Given the description of an element on the screen output the (x, y) to click on. 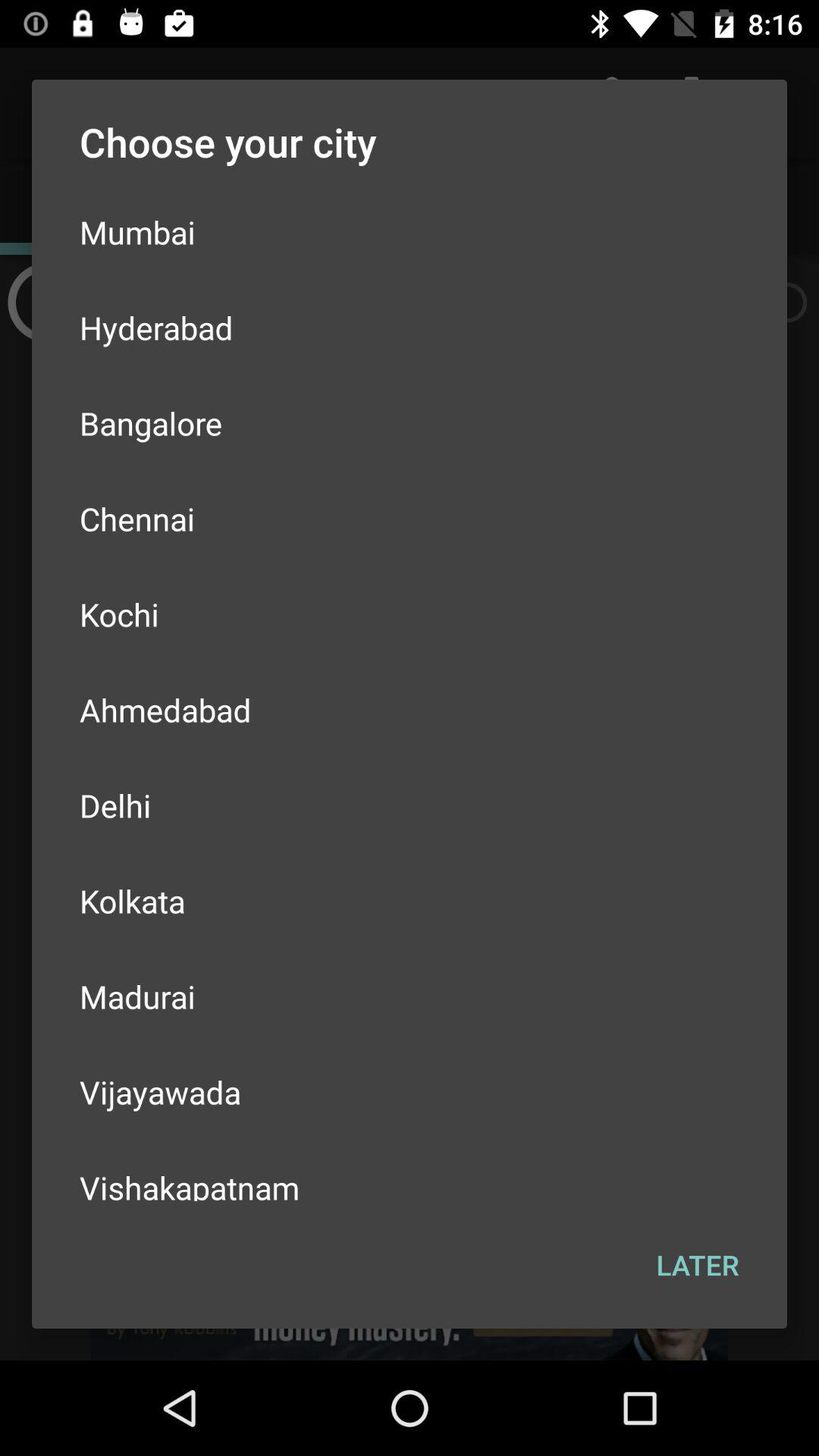
scroll until the mumbai item (409, 231)
